Given the description of an element on the screen output the (x, y) to click on. 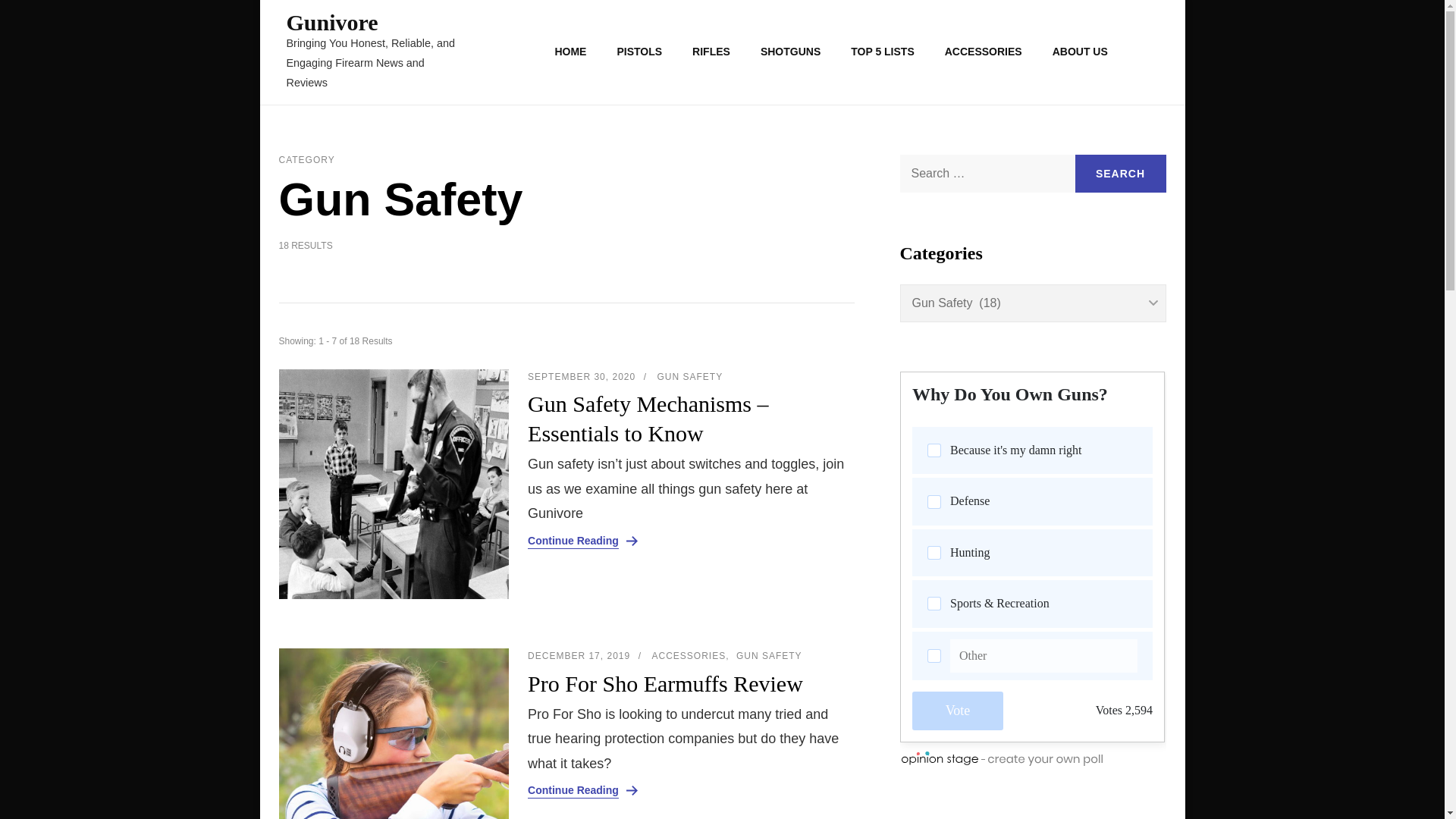
Gunivore (332, 22)
GUN SAFETY (689, 377)
GUN SAFETY (769, 656)
DECEMBER 17, 2019 (578, 655)
SEPTEMBER 30, 2020 (580, 376)
Pro For Sho Earmuffs Review (687, 683)
Search (1120, 173)
Continue Reading (572, 540)
HOME (569, 51)
TOP 5 LISTS (882, 51)
